Given the description of an element on the screen output the (x, y) to click on. 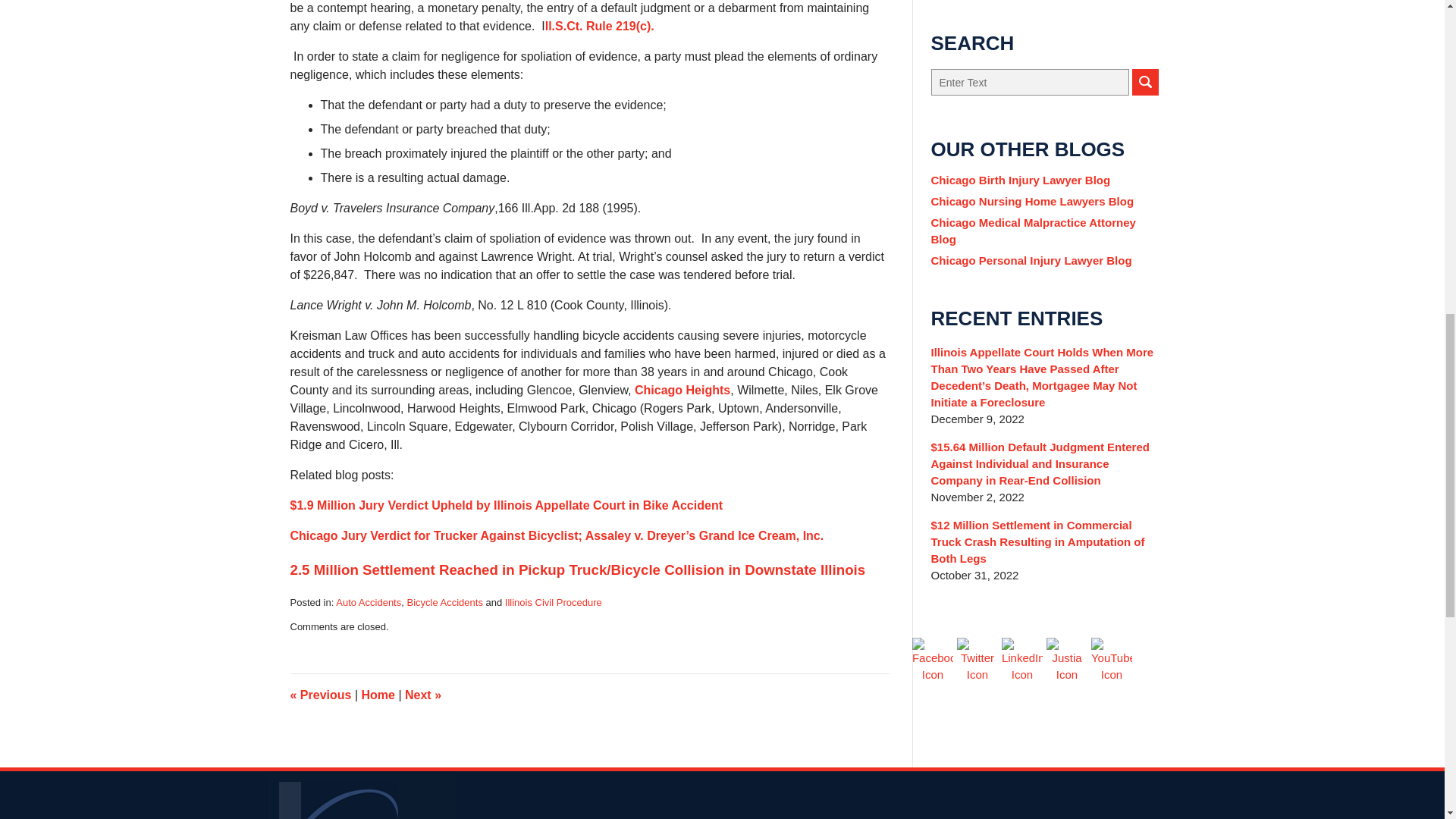
YouTube (1111, 660)
Semi-Trailer Truck and Bus Crashes Numbers Are Rising (319, 694)
View all posts in Illinois Civil Procedure (553, 602)
Facebook (932, 660)
View all posts in Bicycle Accidents (443, 602)
Twitter (977, 660)
Justia (1067, 660)
View all posts in Auto Accidents (368, 602)
LinkedIn (1020, 660)
